Given the description of an element on the screen output the (x, y) to click on. 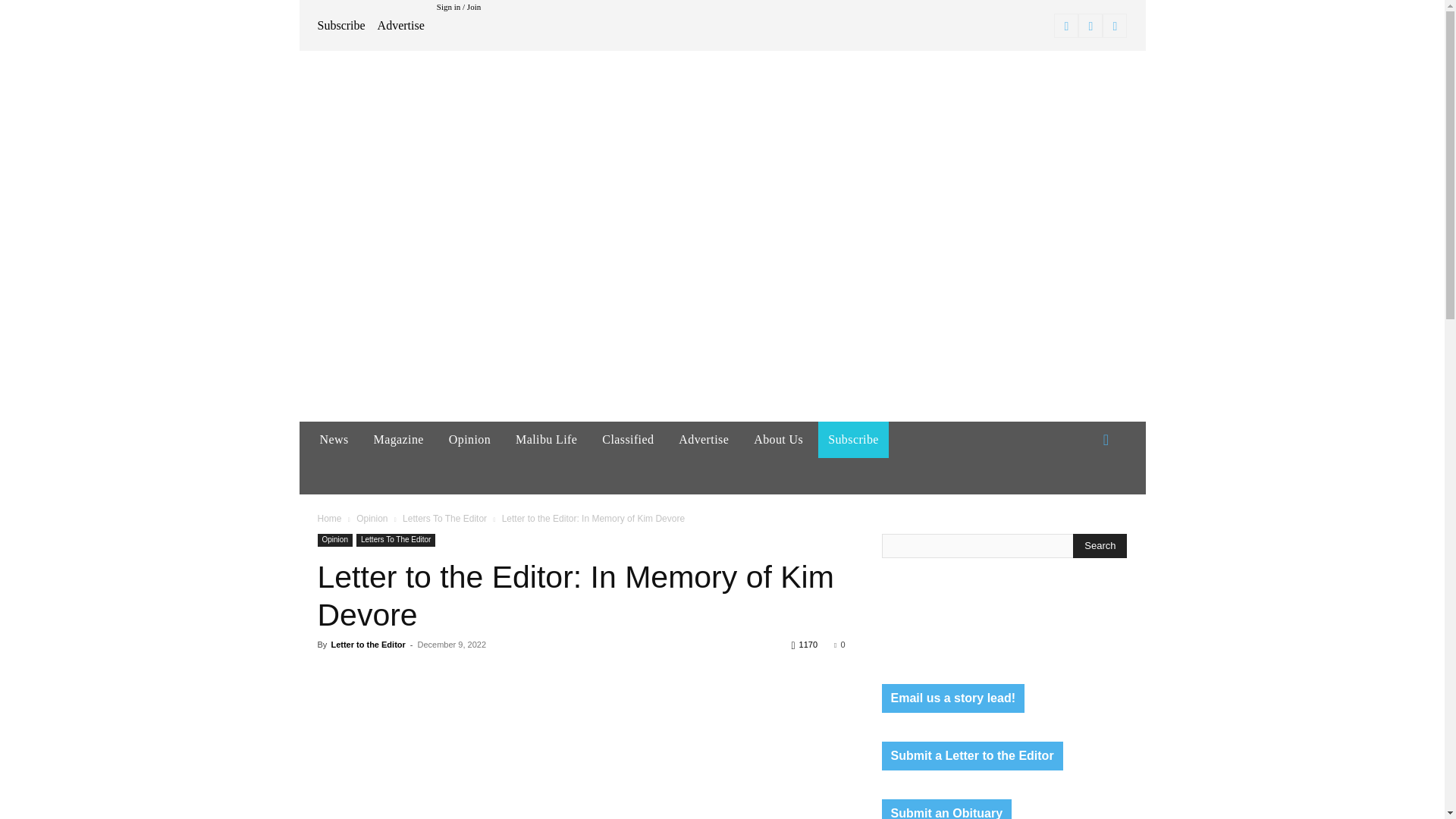
Facebook (1066, 25)
Instagram (1090, 25)
Search (1099, 545)
View all posts in Opinion (371, 518)
Twitter (1114, 25)
View all posts in Letters To The Editor (444, 518)
